Given the description of an element on the screen output the (x, y) to click on. 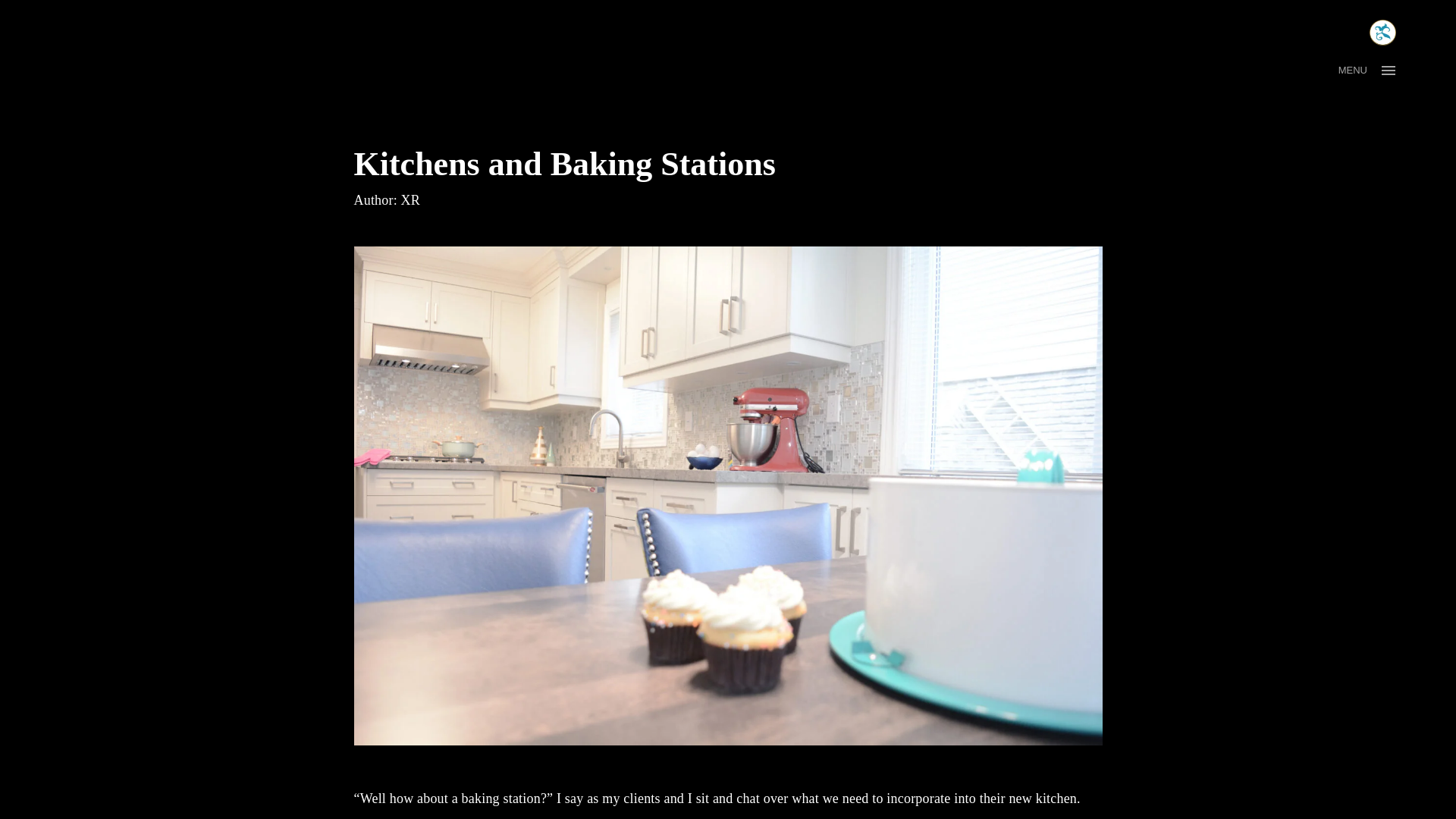
MENU (1372, 70)
